Given the description of an element on the screen output the (x, y) to click on. 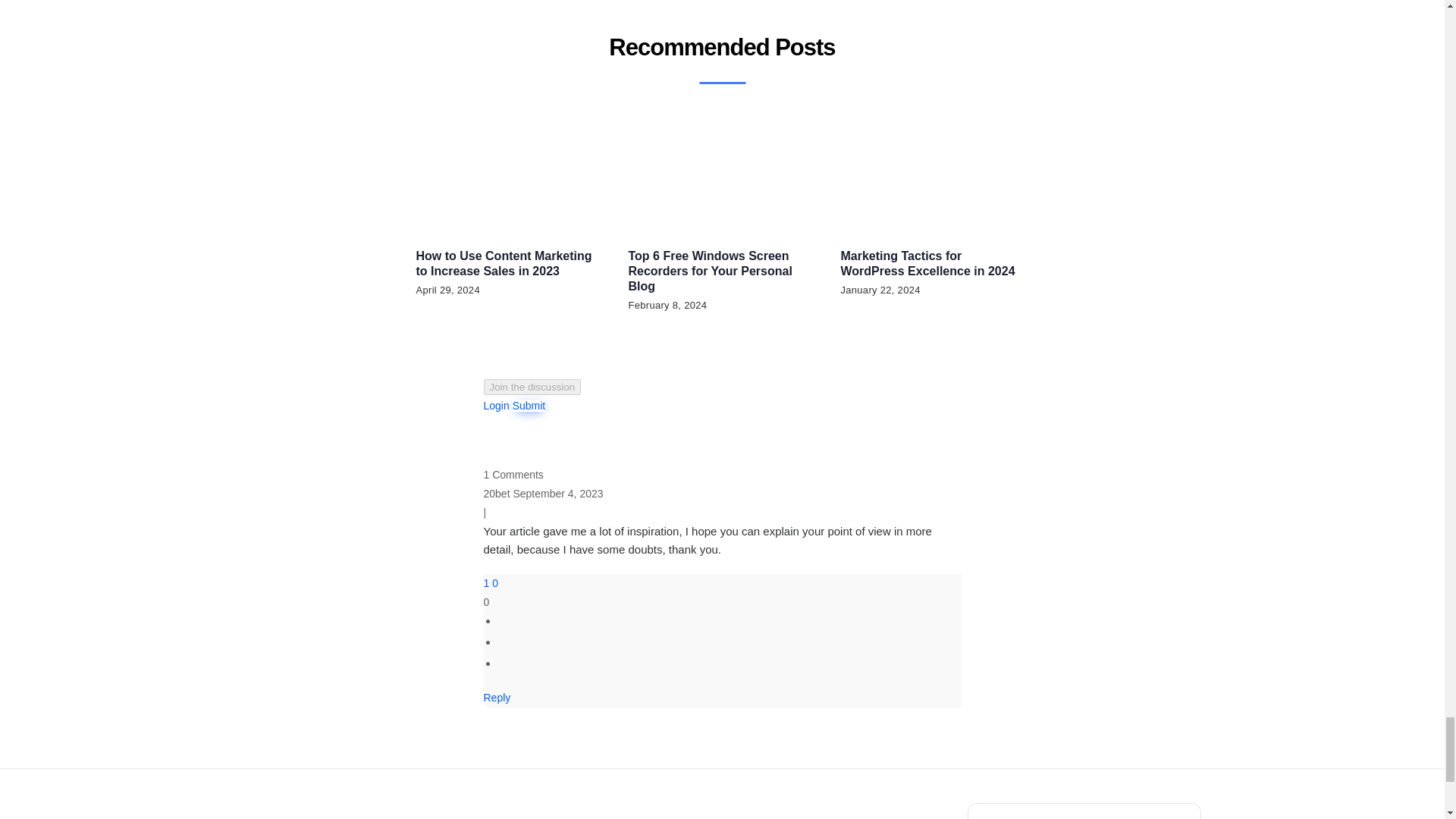
How to Use Content Marketing to Increase Sales in 2023 (502, 263)
Top 6 Free Windows Screen Recorders for Your Personal Blog (709, 270)
Join the discussion (531, 386)
Marketing Tactics for WordPress Excellence in 2024 (927, 263)
